Given the description of an element on the screen output the (x, y) to click on. 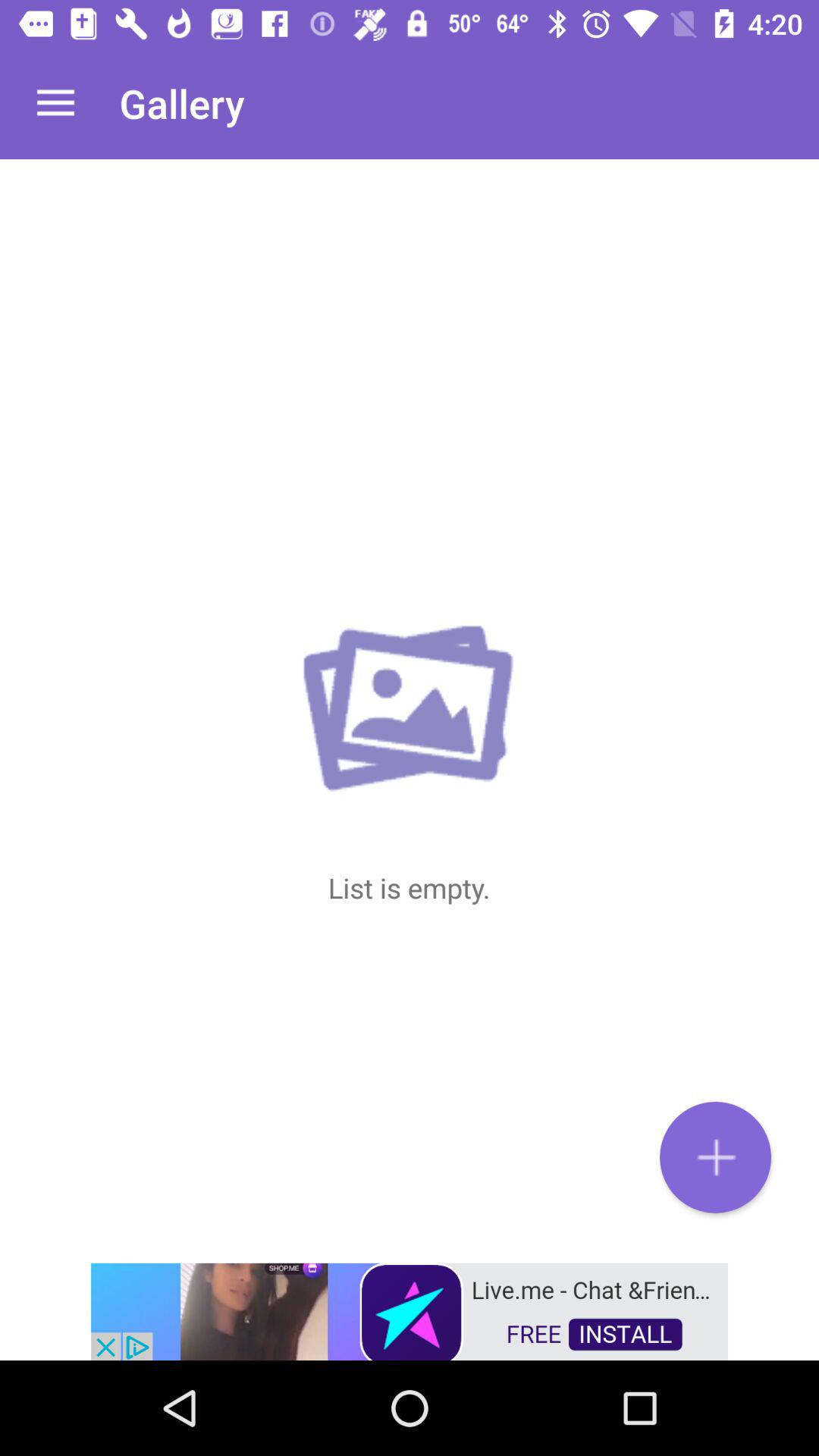
advertisement page (409, 1310)
